Given the description of an element on the screen output the (x, y) to click on. 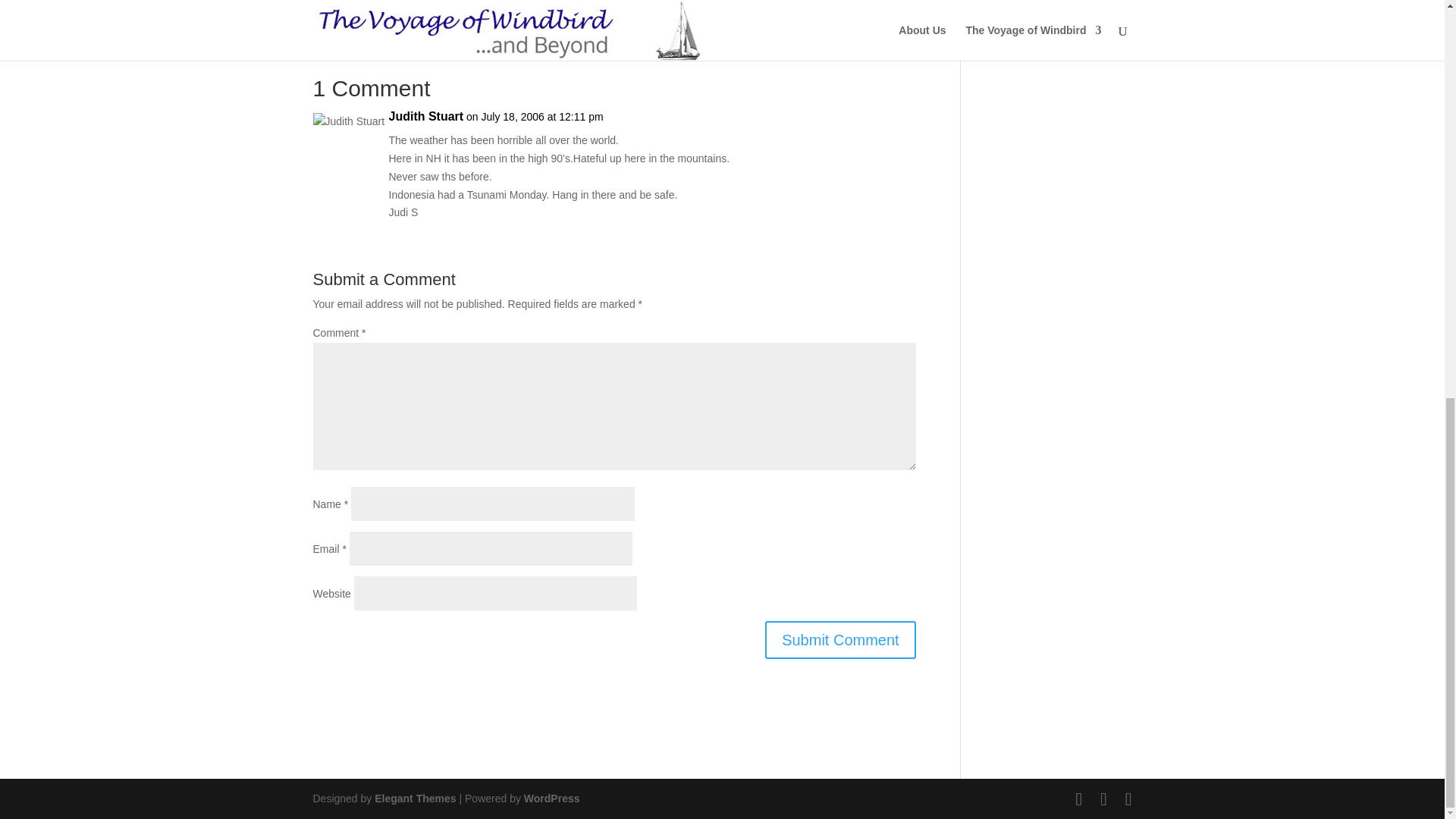
Premium WordPress Themes (414, 798)
Submit Comment (840, 639)
Elegant Themes (414, 798)
Submit Comment (840, 639)
WordPress (551, 798)
